Given the description of an element on the screen output the (x, y) to click on. 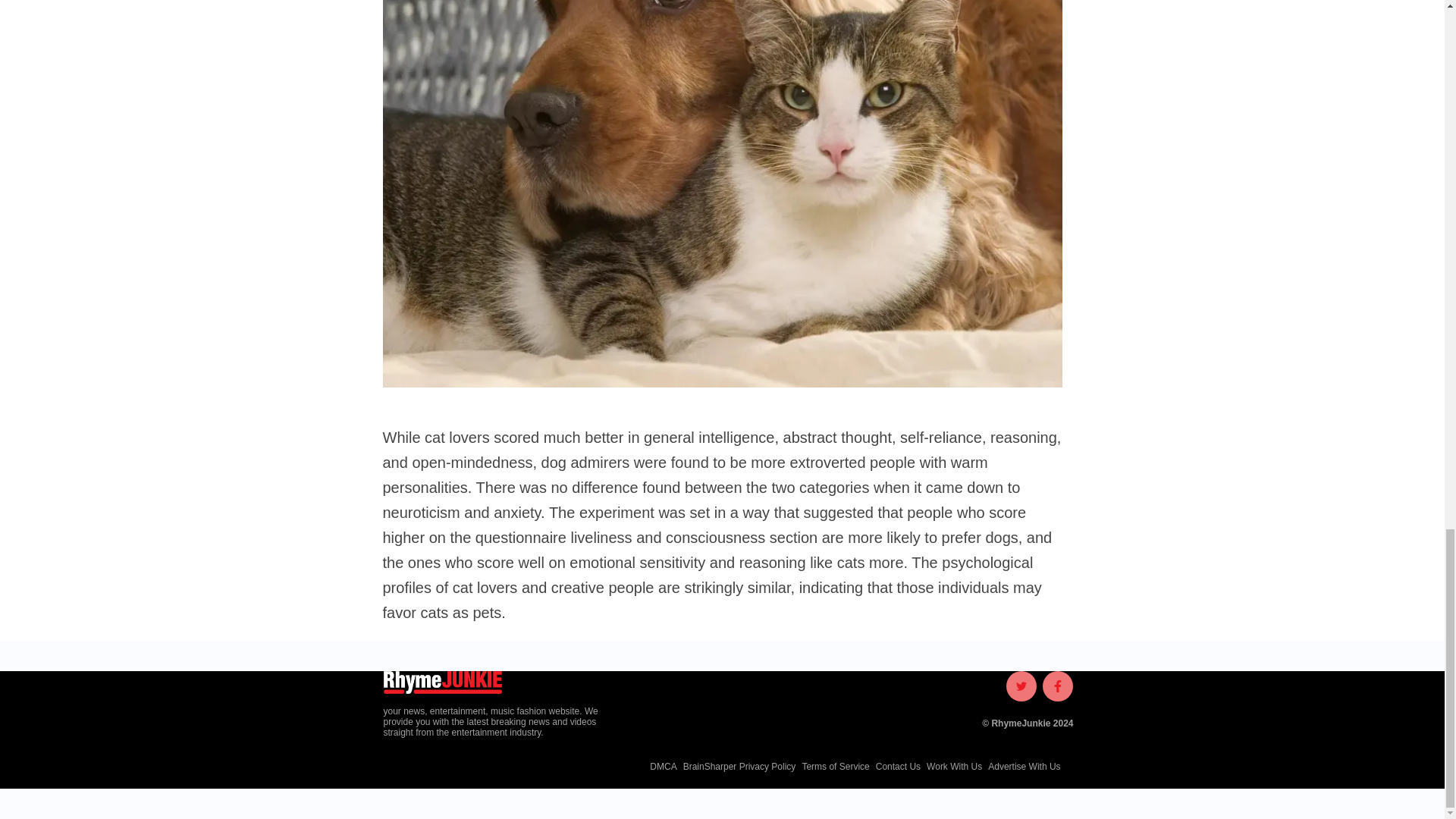
Work With Us (950, 766)
Terms of Service (831, 766)
DMCA (660, 766)
Terms of Service (831, 766)
BrainSharper Privacy Policy (736, 766)
Contact Us (894, 766)
Advertise With Us (1020, 766)
Work With Us (950, 766)
DMCA (660, 766)
Contact Us (894, 766)
